Given the description of an element on the screen output the (x, y) to click on. 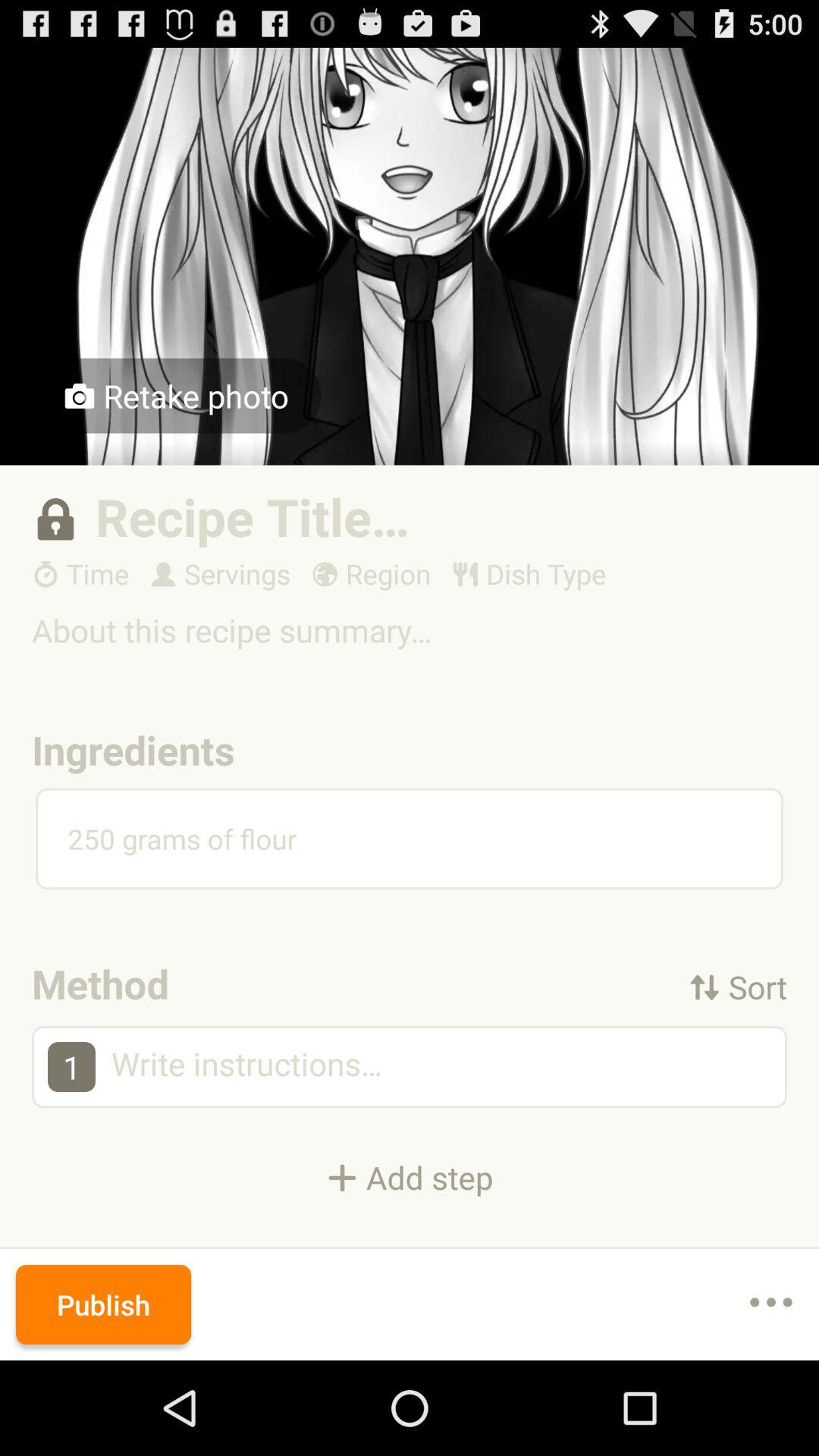
turn on item to the right of publish (771, 1304)
